Given the description of an element on the screen output the (x, y) to click on. 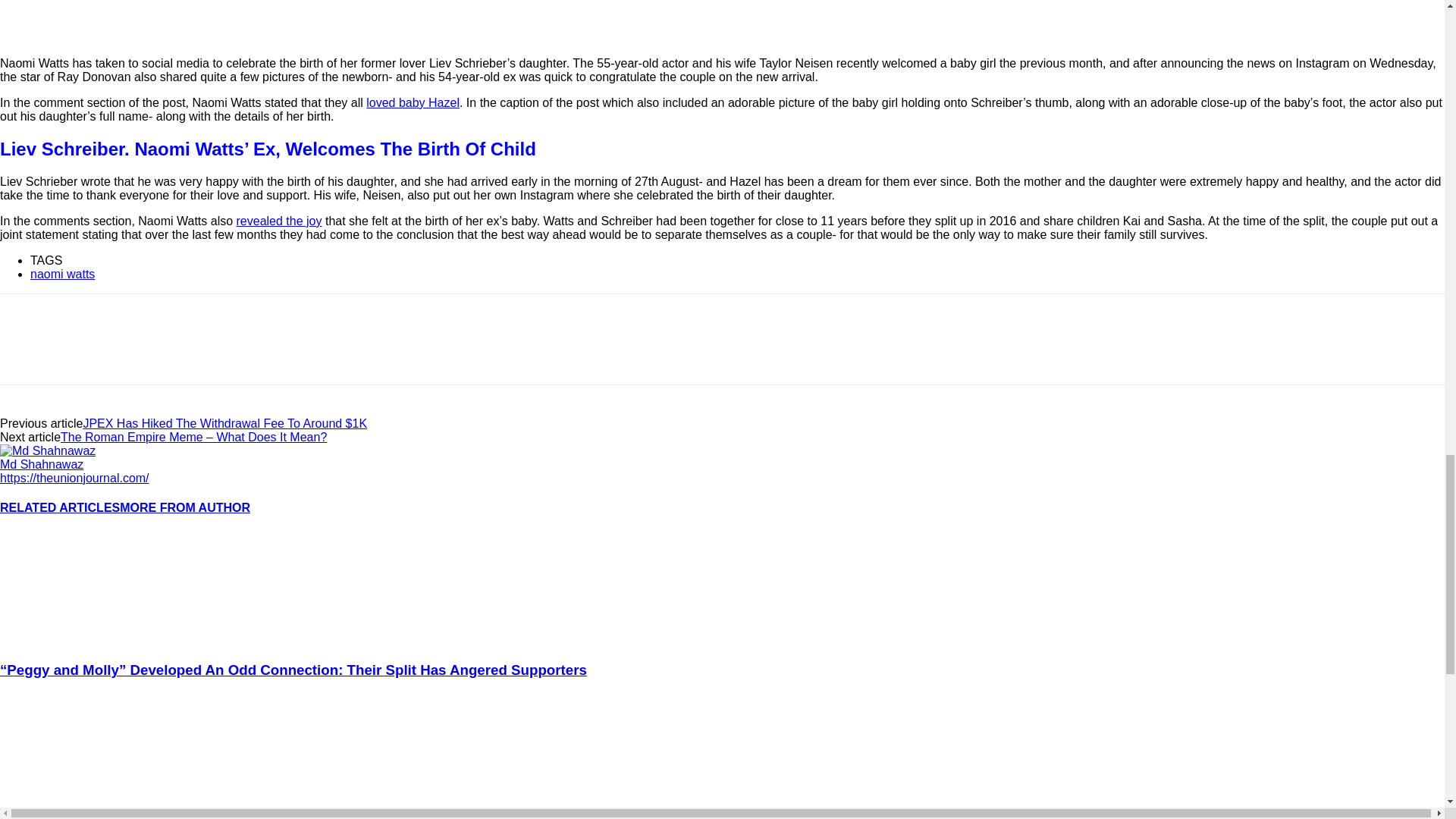
bottomFacebookLike (113, 317)
Naomi Watts (263, 20)
